Given the description of an element on the screen output the (x, y) to click on. 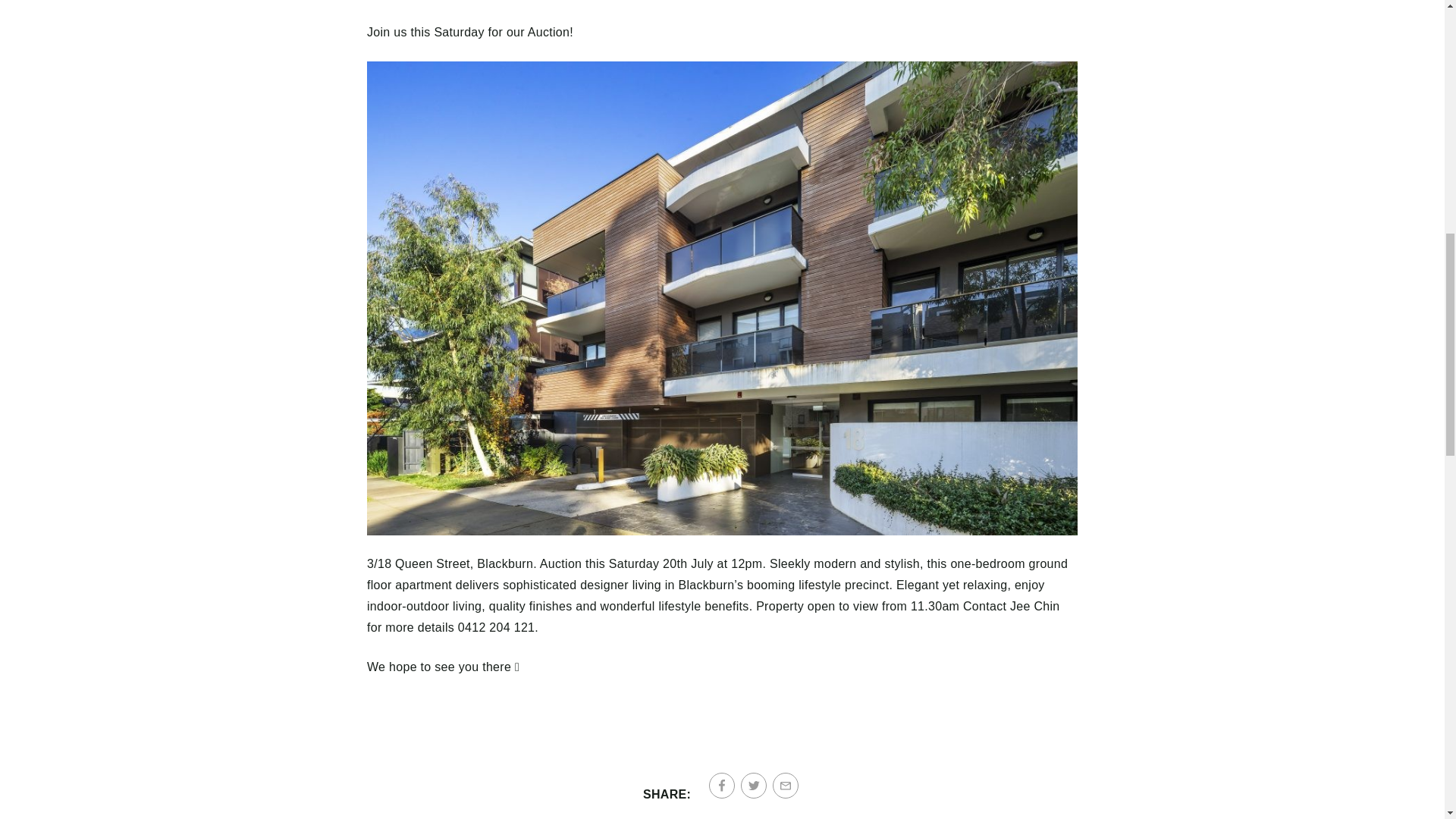
Twitter (754, 785)
Facebook (722, 785)
Email (785, 785)
